Given the description of an element on the screen output the (x, y) to click on. 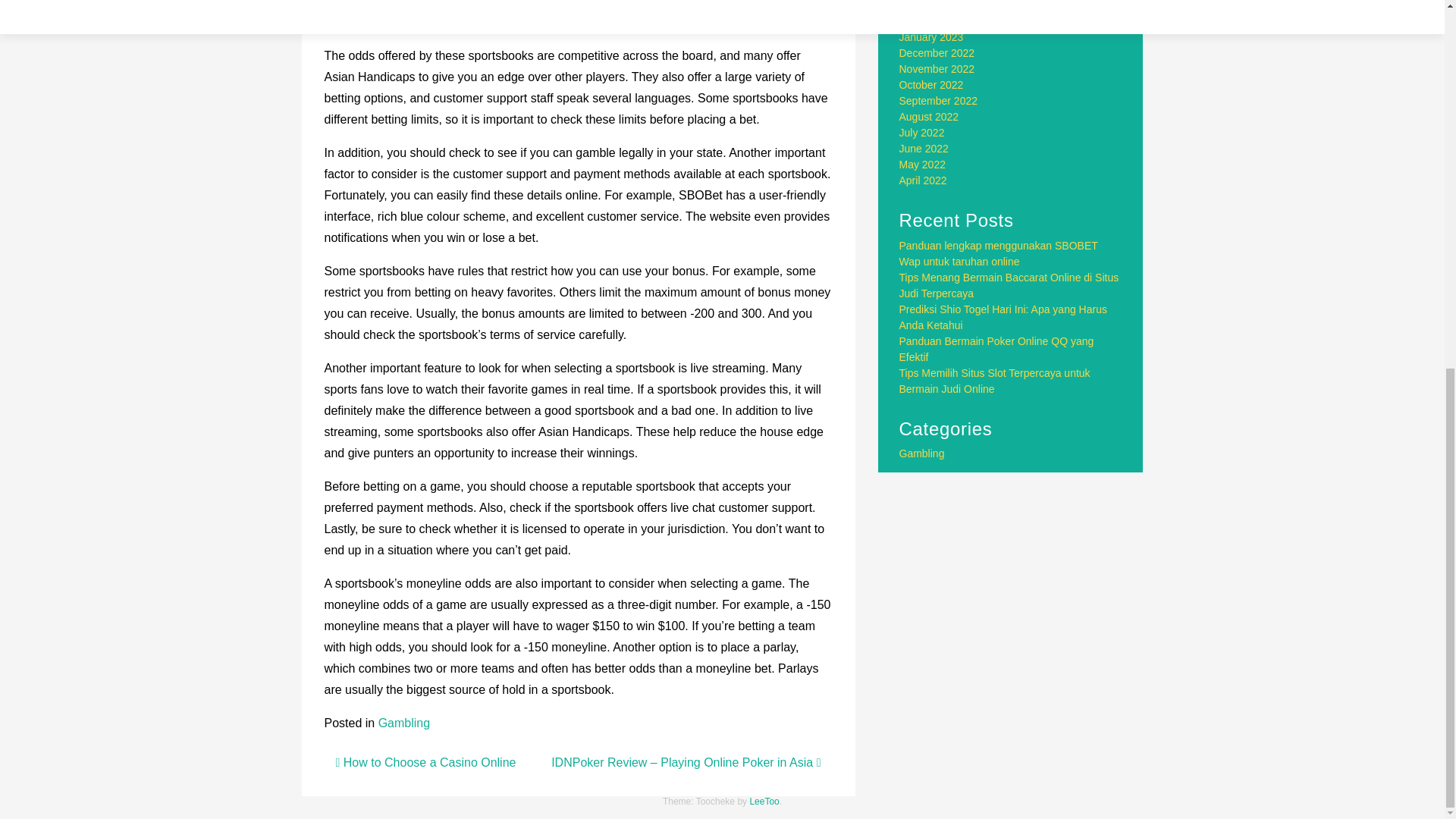
July 2022 (921, 132)
Panduan Bermain Poker Online QQ yang Efektif (996, 348)
 How to Choose a Casino Online (424, 762)
August 2022 (929, 116)
Gambling (403, 722)
February 2023 (933, 21)
Prediksi Shio Togel Hari Ini: Apa yang Harus Anda Ketahui (1002, 317)
November 2022 (937, 69)
Tips Menang Bermain Baccarat Online di Situs Judi Terpercaya (1009, 285)
Panduan lengkap menggunakan SBOBET Wap untuk taruhan online (998, 253)
April 2022 (923, 180)
June 2022 (924, 148)
March 2023 (927, 5)
January 2023 (931, 37)
September 2022 (938, 101)
